Given the description of an element on the screen output the (x, y) to click on. 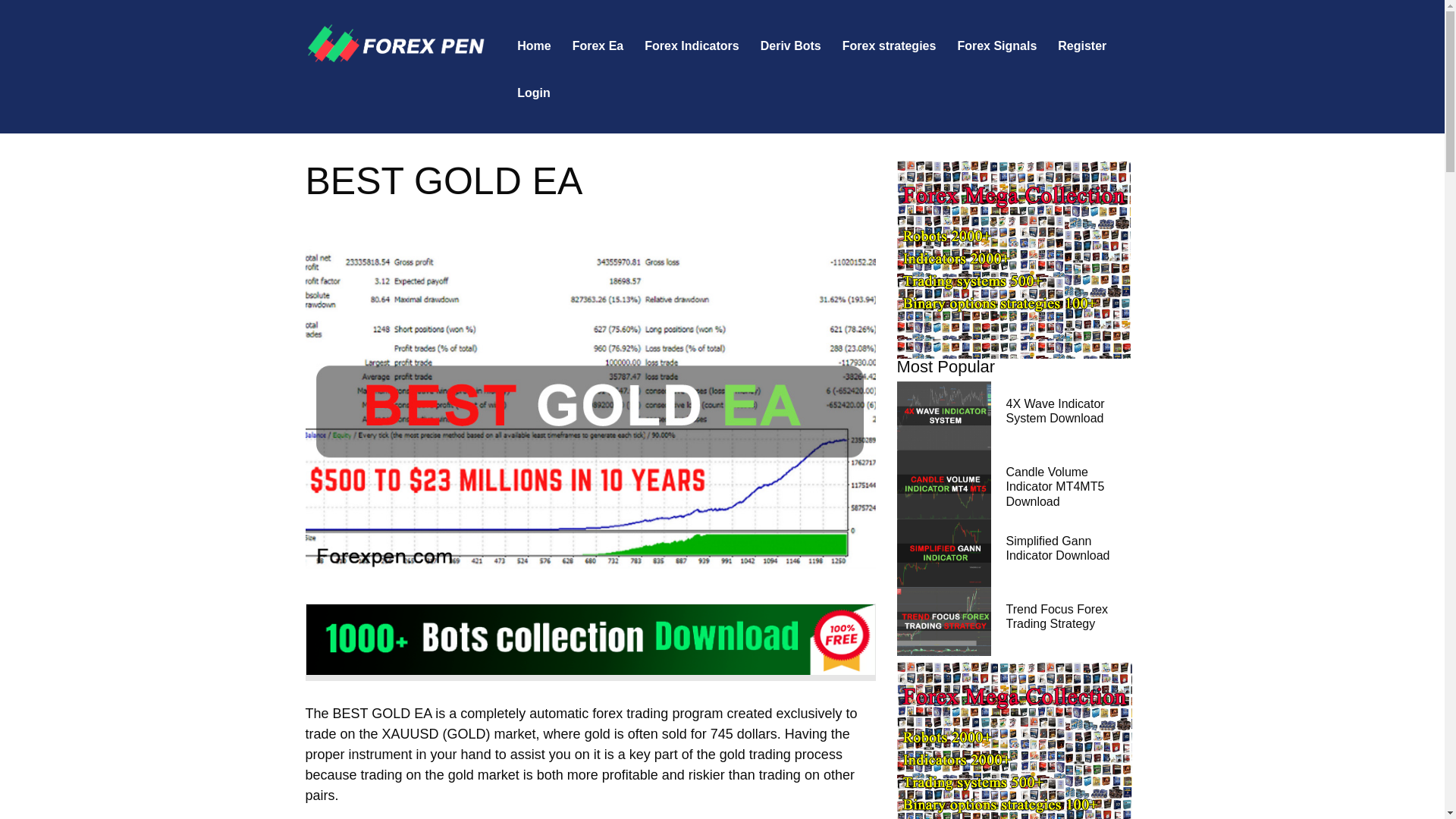
Home (533, 45)
Login (533, 93)
Simplified Gann Indicator Download (1057, 547)
Deriv Bots (790, 45)
Trend Focus Forex Trading Strategy (1057, 615)
Forex Signals (996, 45)
Candle Volume Indicator MT4MT5 Download (1054, 486)
Forex Indicators (691, 45)
4X Wave Indicator System Download (1054, 411)
Forex strategies (889, 45)
Register (1081, 45)
Forex Ea (598, 45)
